Given the description of an element on the screen output the (x, y) to click on. 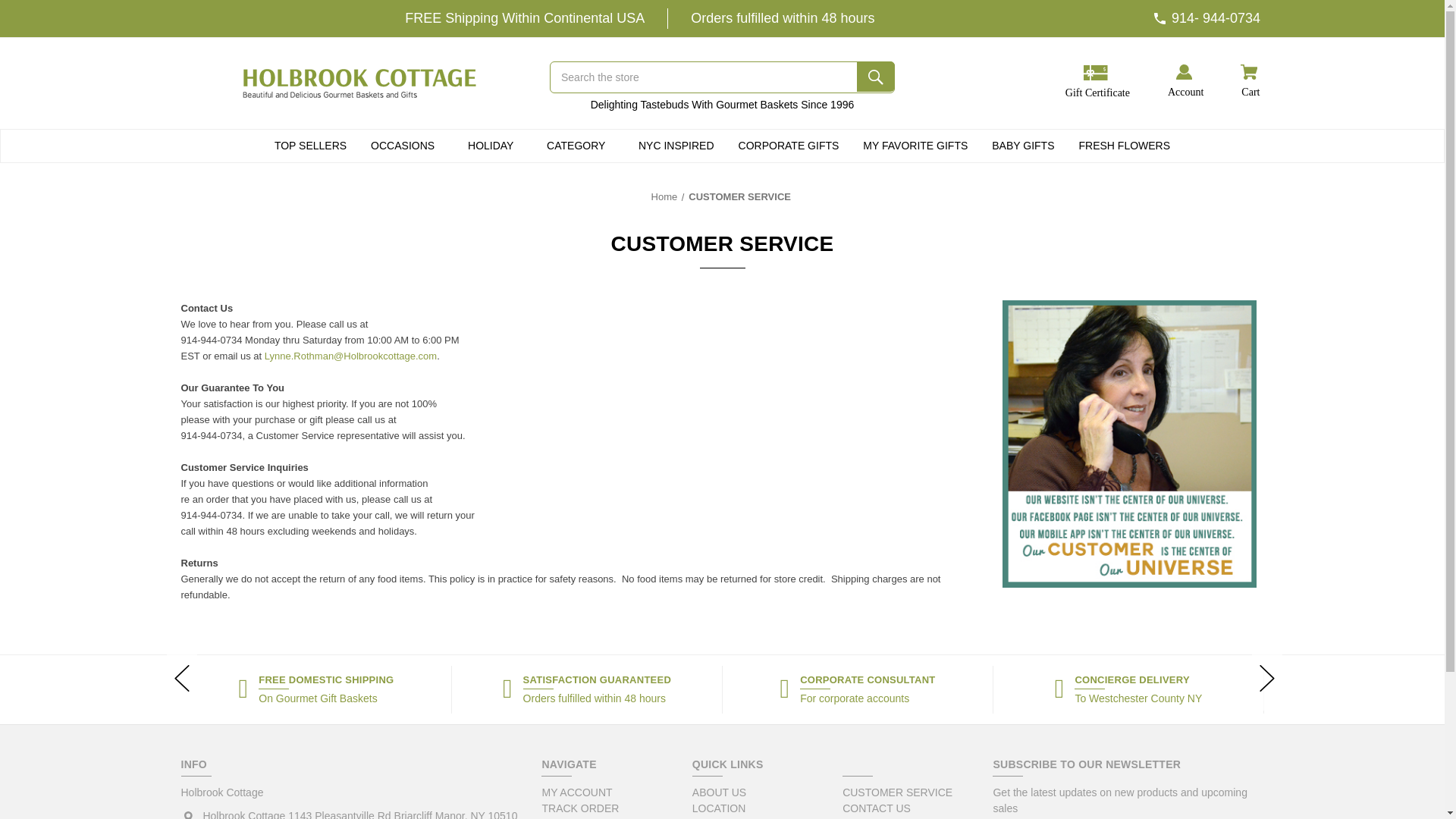
GIFT CARD IMAGE LARGE SQUARE BLACK IMAGE WITH A BOW ONTOP (1095, 72)
Holbrook Cottage (360, 82)
